Given the description of an element on the screen output the (x, y) to click on. 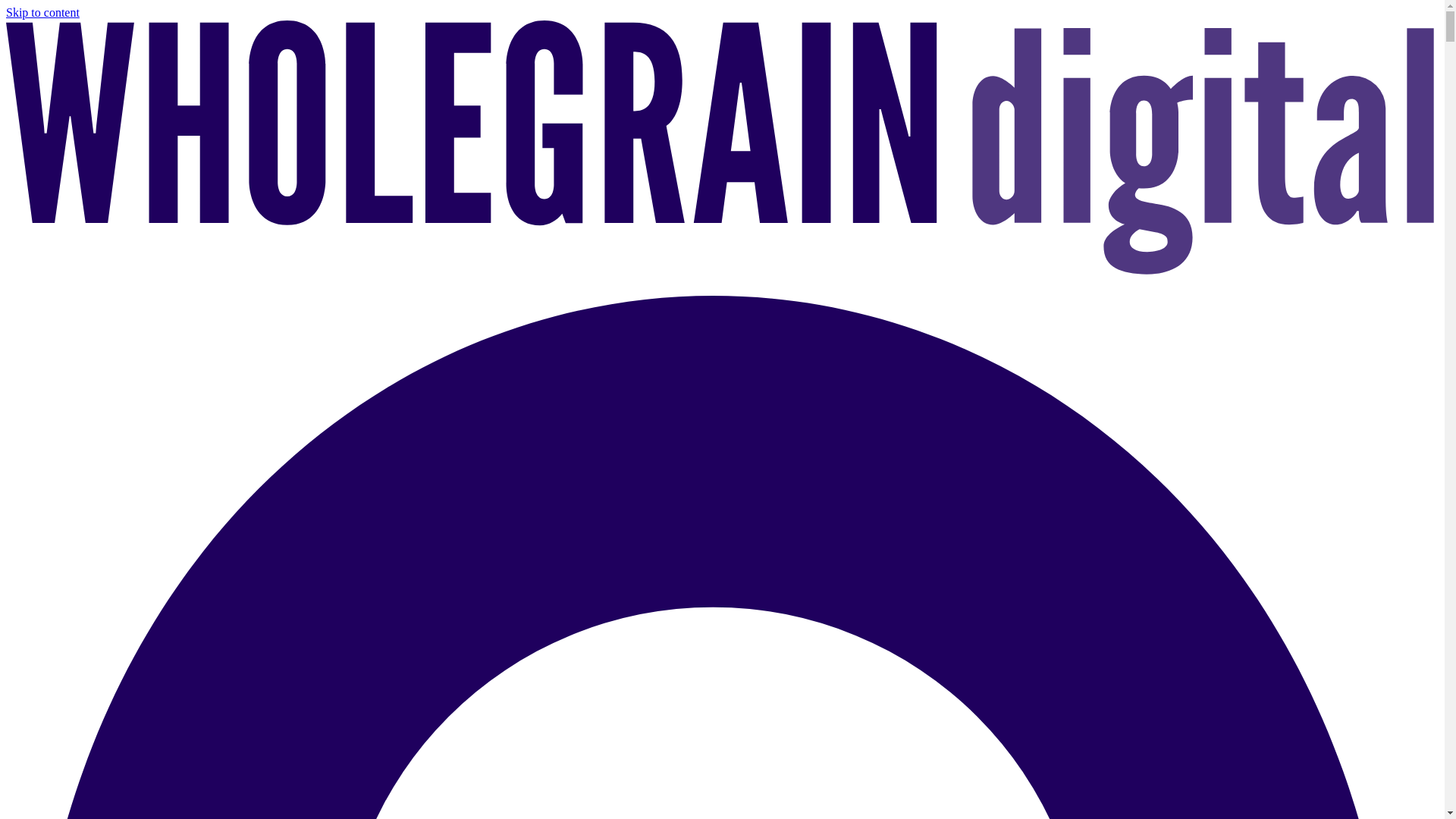
Skip to content (42, 11)
